Given the description of an element on the screen output the (x, y) to click on. 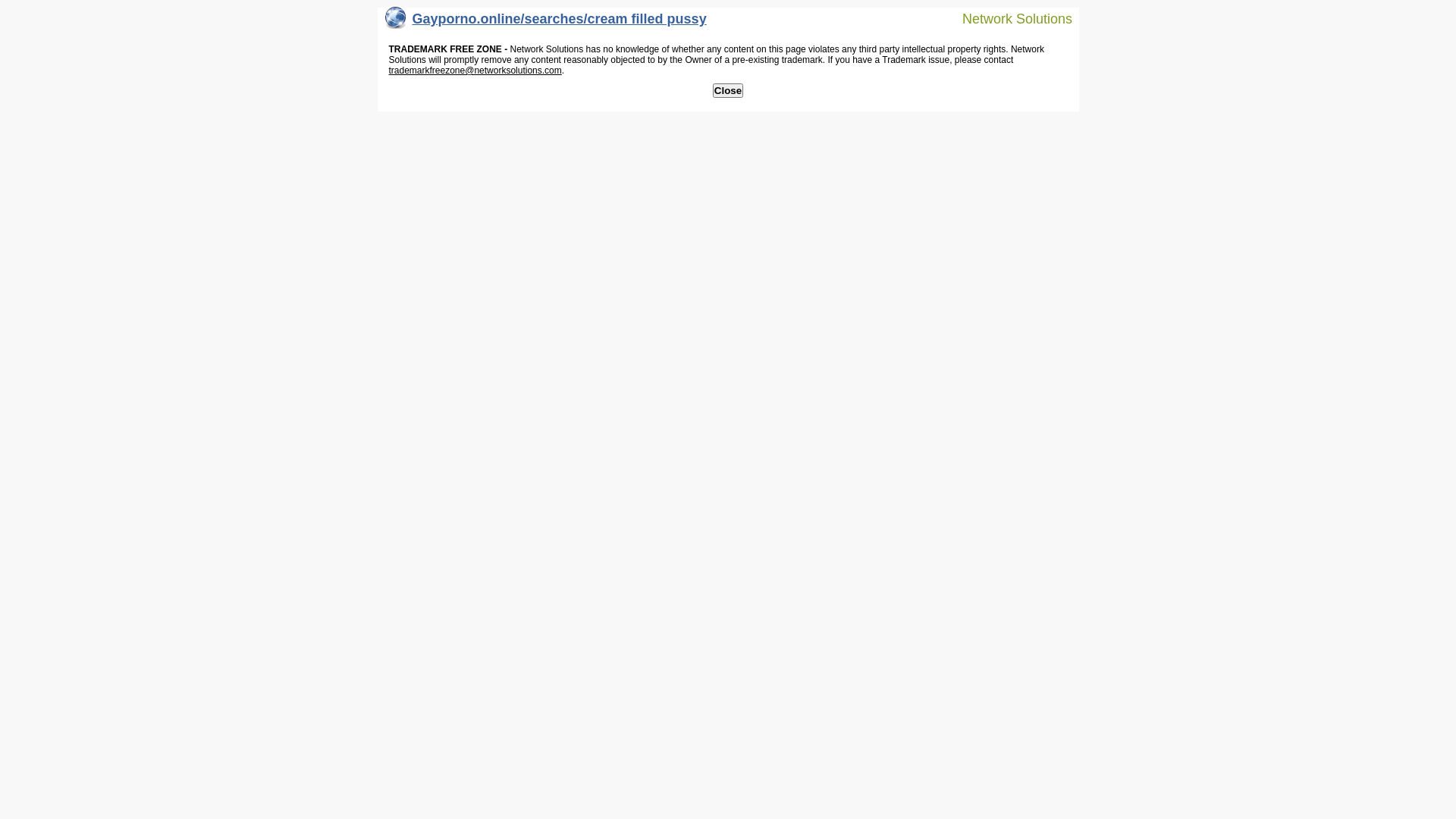
Network Solutions Element type: text (1007, 17)
Close Element type: text (727, 90)
trademarkfreezone@networksolutions.com Element type: text (474, 70)
Gayporno.online/searches/cream filled pussy Element type: text (545, 21)
